Given the description of an element on the screen output the (x, y) to click on. 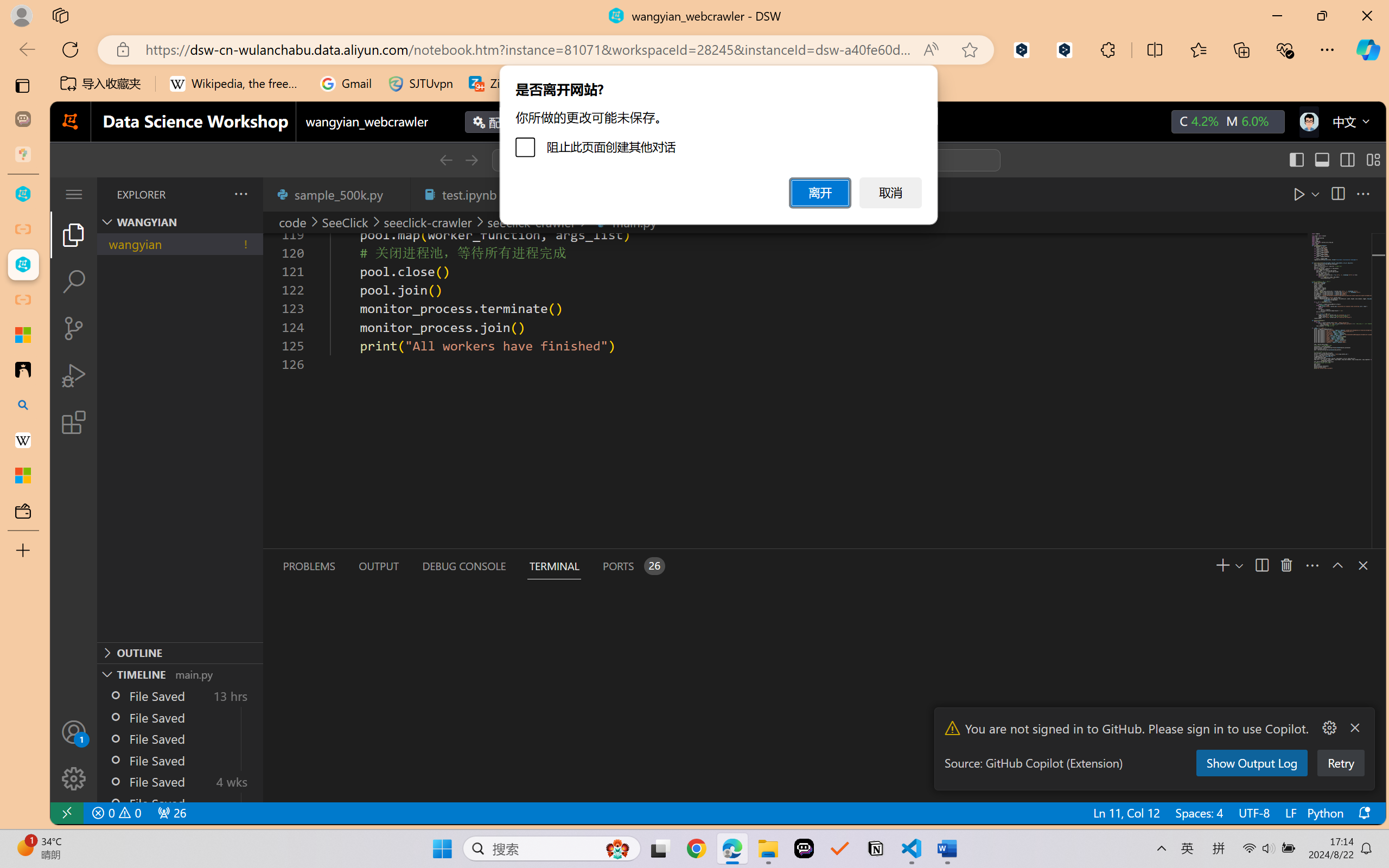
An abstract genetic concept (600, 463)
